Given the description of an element on the screen output the (x, y) to click on. 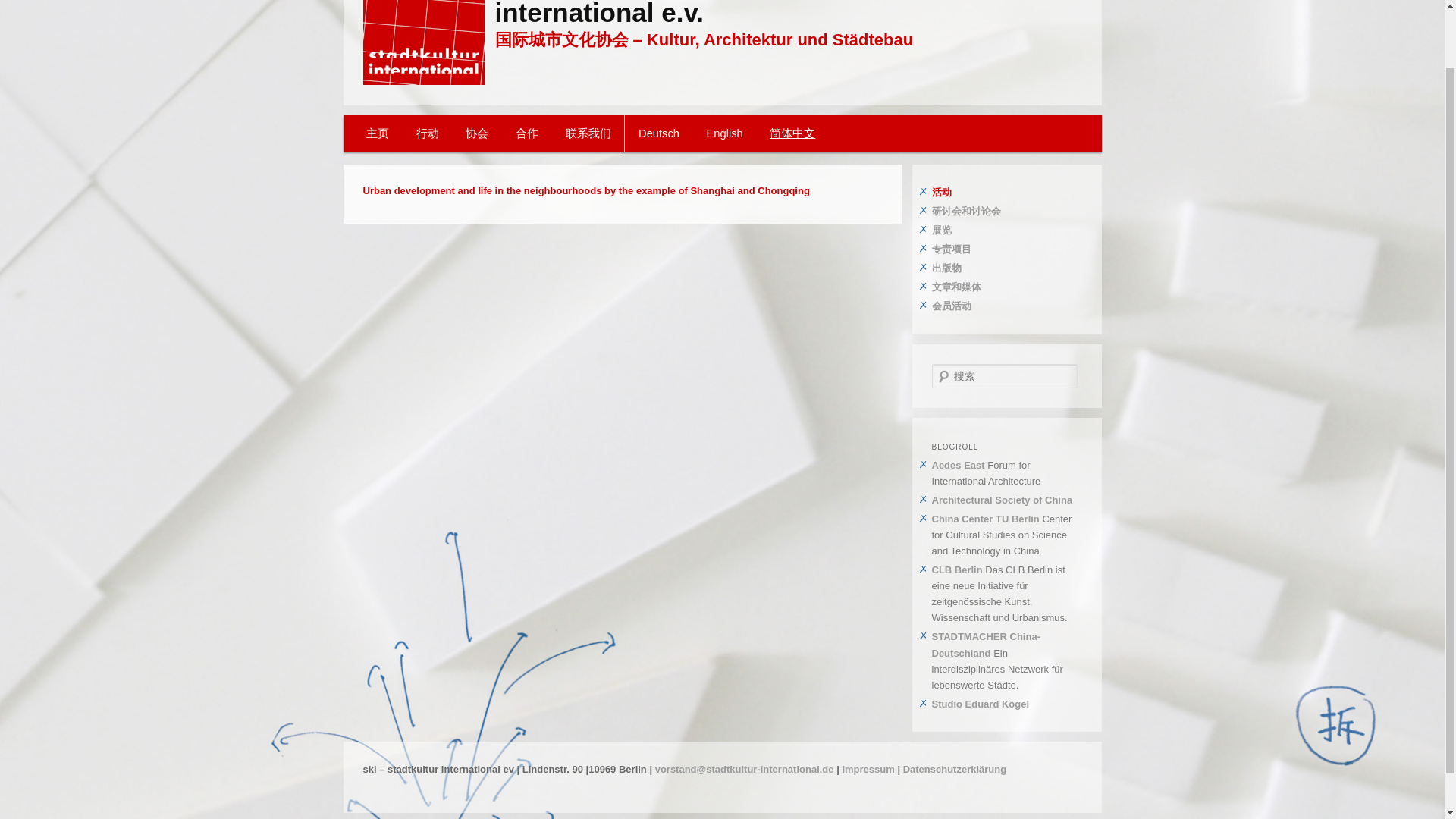
Aedes East (957, 464)
English (725, 133)
Impressum (867, 768)
STADTMACHER China-Deutschland (985, 644)
Deutsch (658, 133)
English (725, 133)
CLB Berlin (956, 569)
China Center TU Berlin (985, 518)
Architectural Society of China (1001, 500)
Deutsch (658, 133)
